Given the description of an element on the screen output the (x, y) to click on. 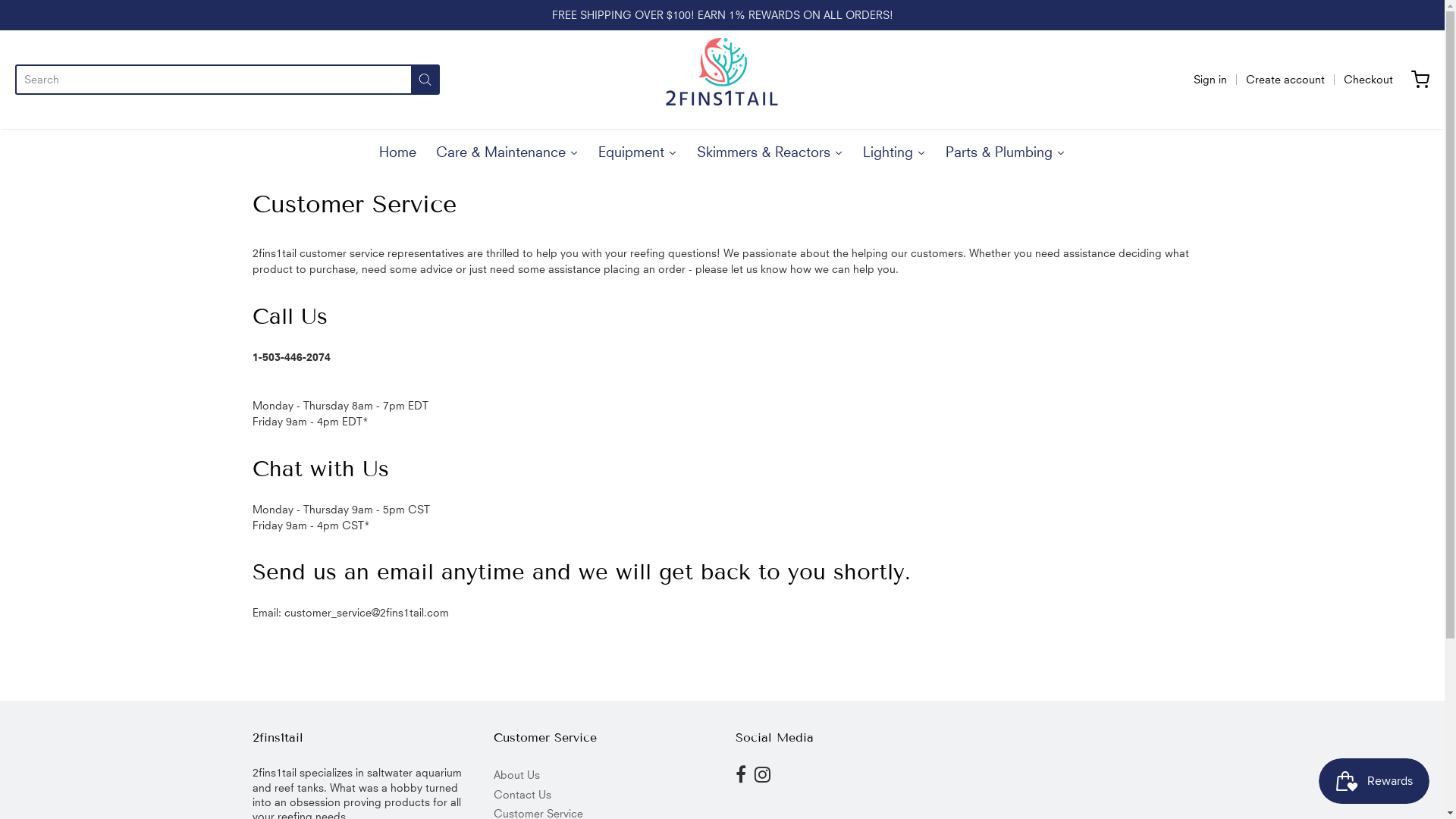
Skimmers & Reactors Element type: text (770, 147)
Equipment Element type: text (637, 147)
Care & Maintenance Element type: text (507, 147)
Parts & Plumbing Element type: text (1005, 147)
Home Element type: text (397, 147)
Sign in Element type: text (1209, 79)
About Us Element type: text (600, 774)
Create account Element type: text (1284, 79)
Checkout Element type: text (1368, 79)
Smile.io Rewards Program Launcher Element type: hover (1373, 780)
Contact Us Element type: text (600, 793)
2fins1tail Element type: hover (721, 79)
Lighting Element type: text (894, 147)
